Given the description of an element on the screen output the (x, y) to click on. 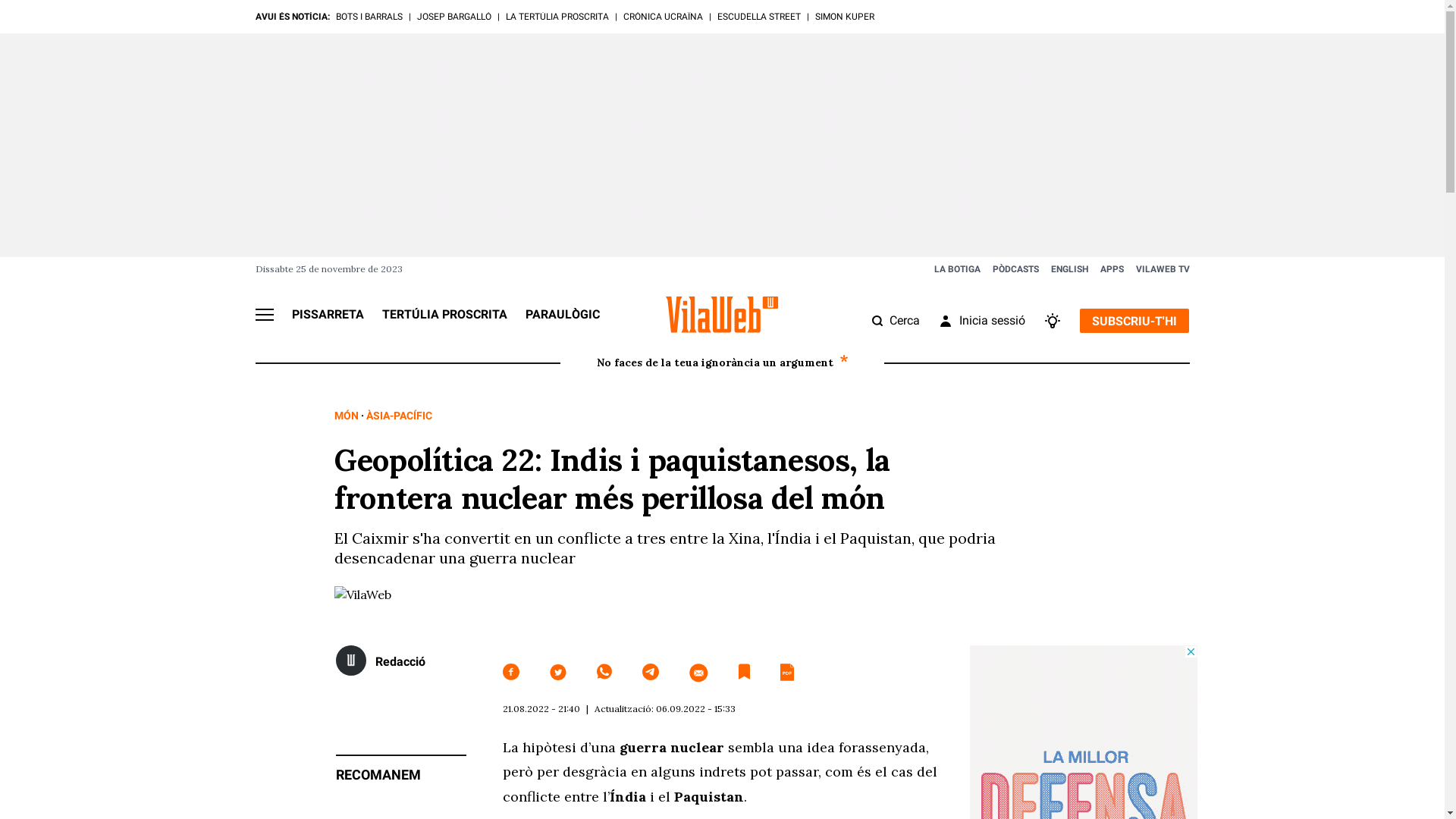
3rd party ad content Element type: hover (722, 146)
APPS Element type: text (1111, 268)
PISSARRETA Element type: text (327, 314)
BOTS I BARRALS Element type: text (368, 16)
Cerca Element type: text (895, 320)
ESCUDELLA STREET Element type: text (758, 16)
SIMON KUPER Element type: text (843, 16)
LA BOTIGA Element type: text (957, 268)
VILAWEB TV Element type: text (1162, 268)
ENGLISH Element type: text (1069, 268)
facebook Element type: hover (510, 672)
SUBSCRIU-T'HI Element type: text (1134, 320)
